Given the description of an element on the screen output the (x, y) to click on. 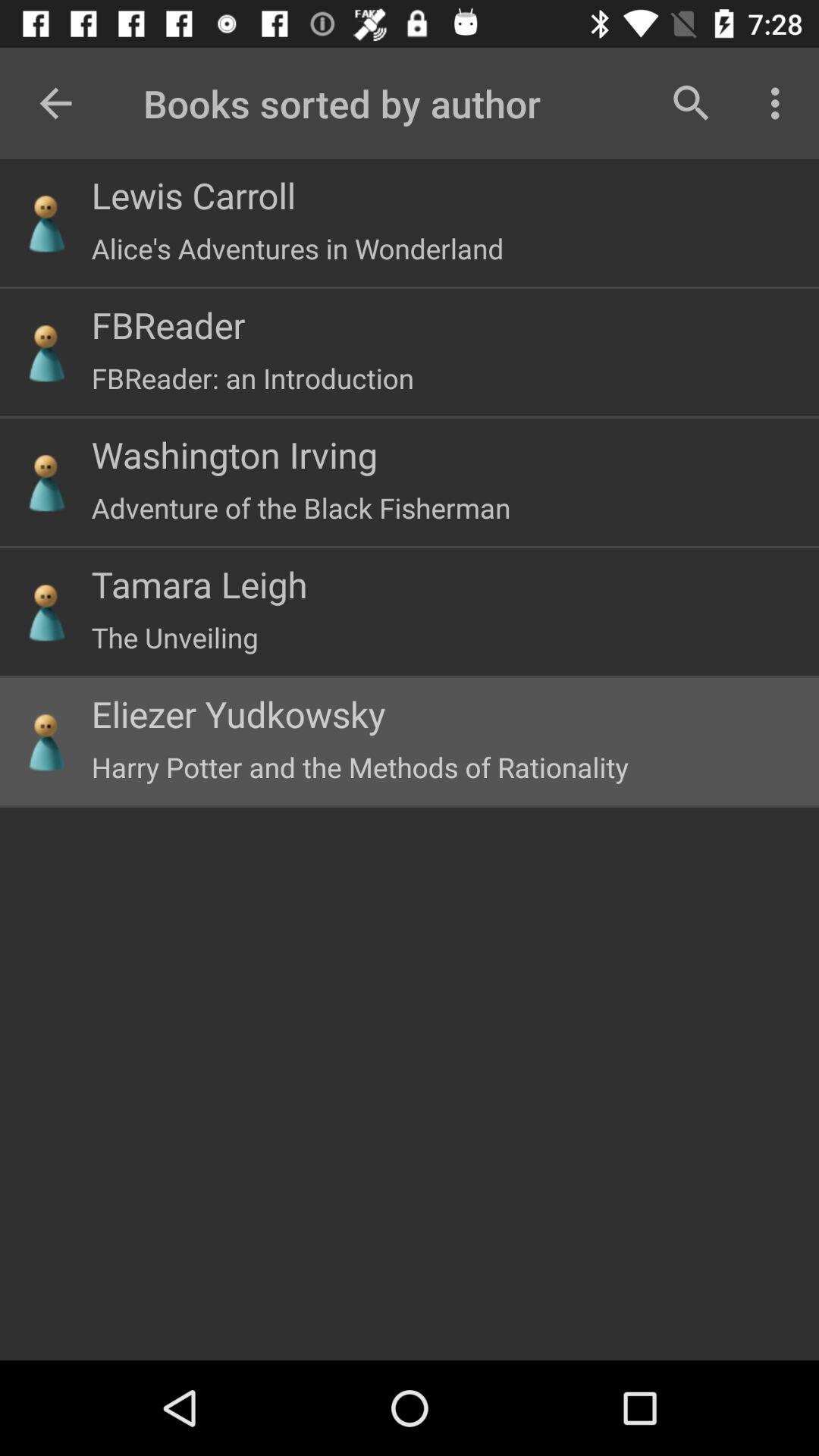
tap eliezer yudkowsky item (238, 713)
